Given the description of an element on the screen output the (x, y) to click on. 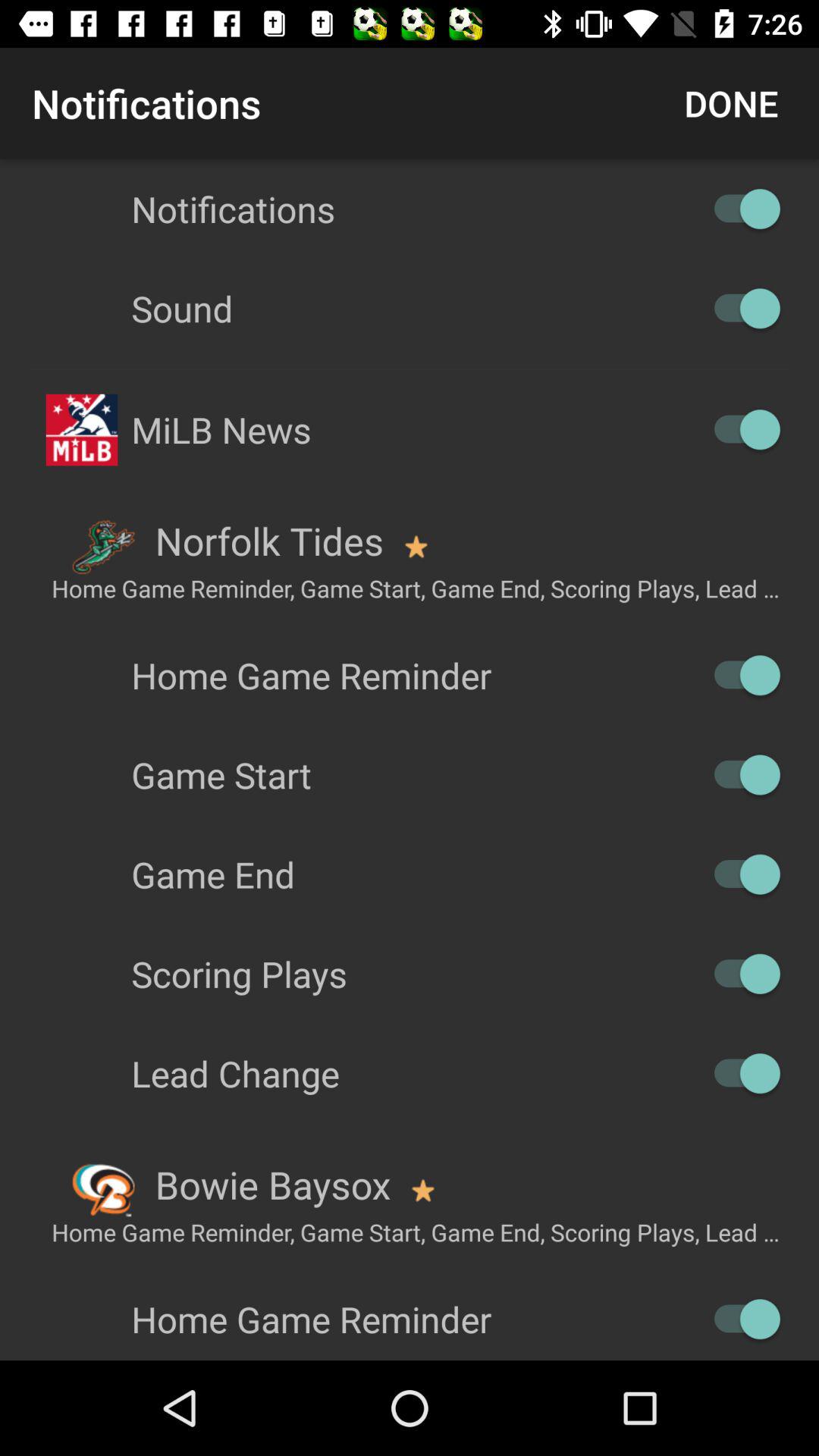
toggle off (739, 774)
